Given the description of an element on the screen output the (x, y) to click on. 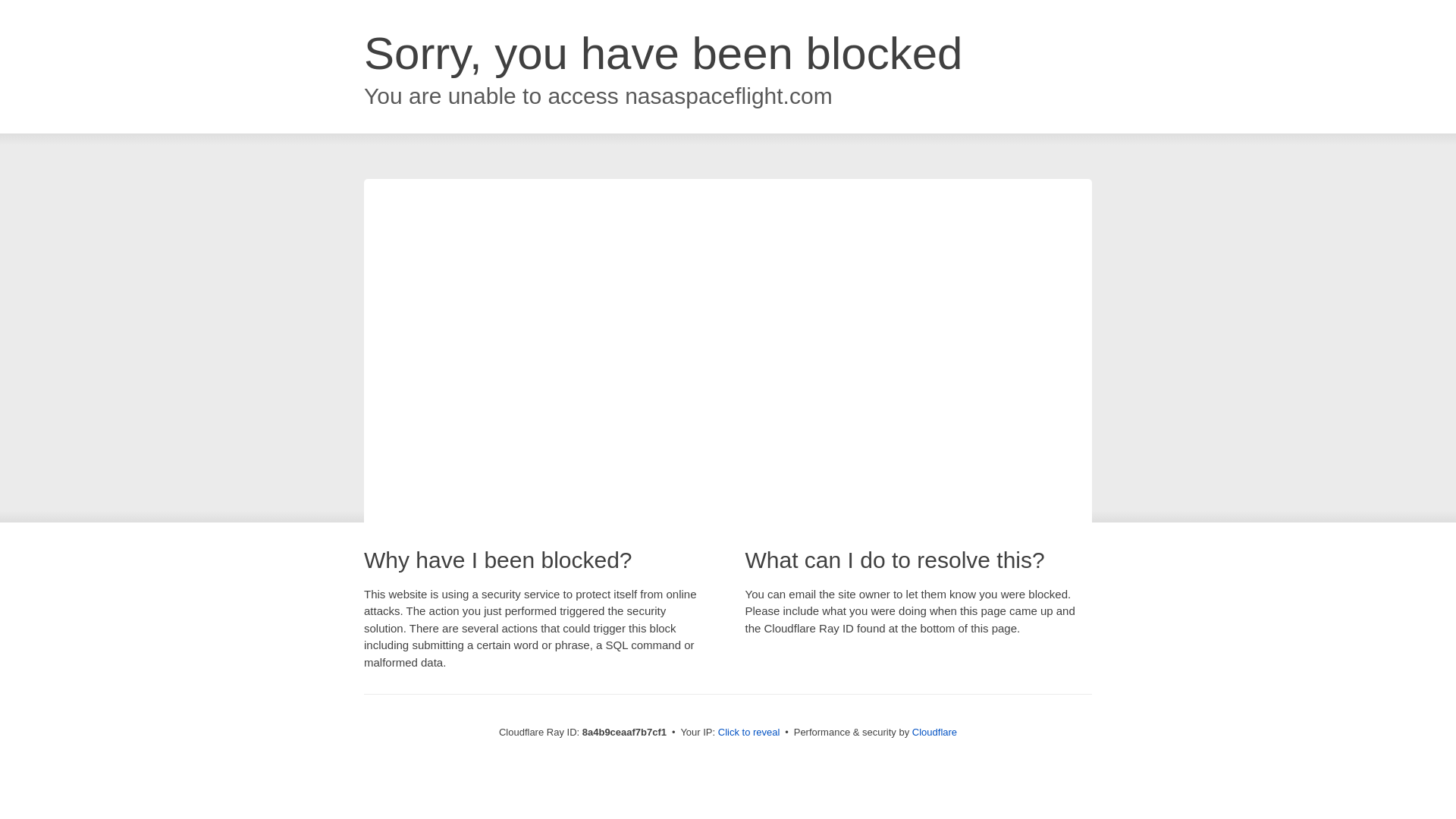
Cloudflare (934, 731)
Click to reveal (748, 732)
